Given the description of an element on the screen output the (x, y) to click on. 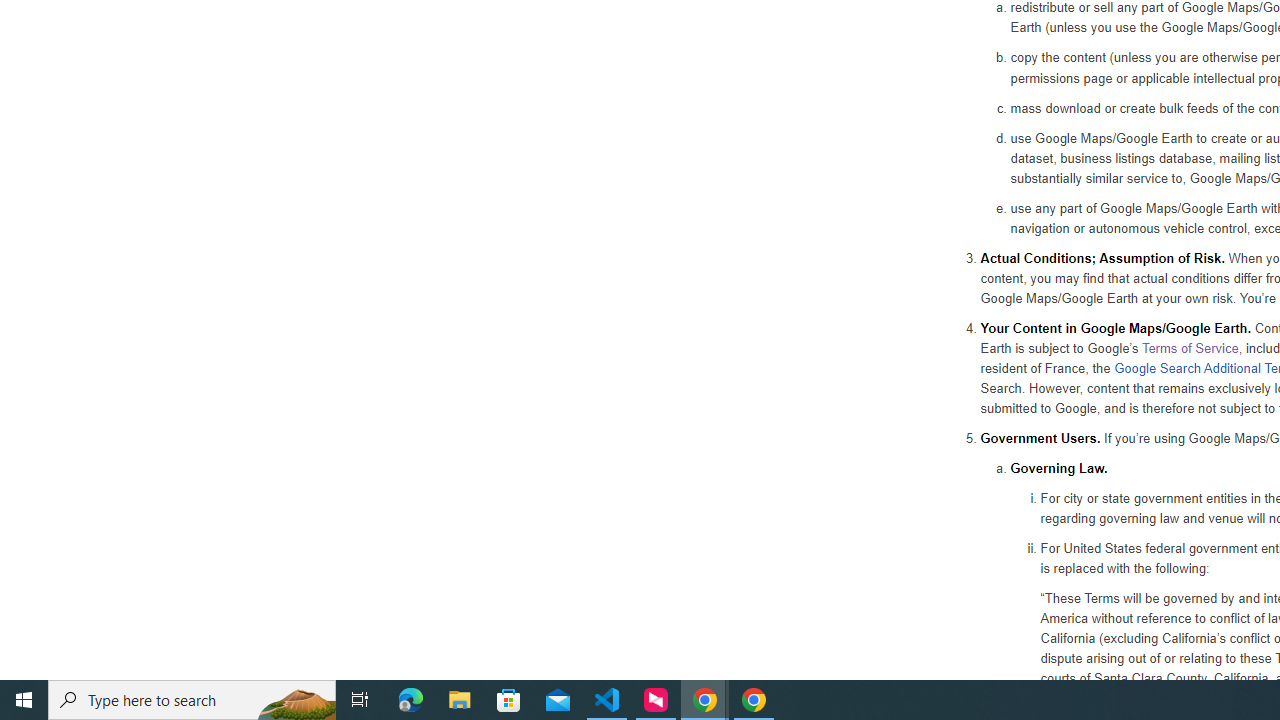
Terms of Service (1189, 347)
